Given the description of an element on the screen output the (x, y) to click on. 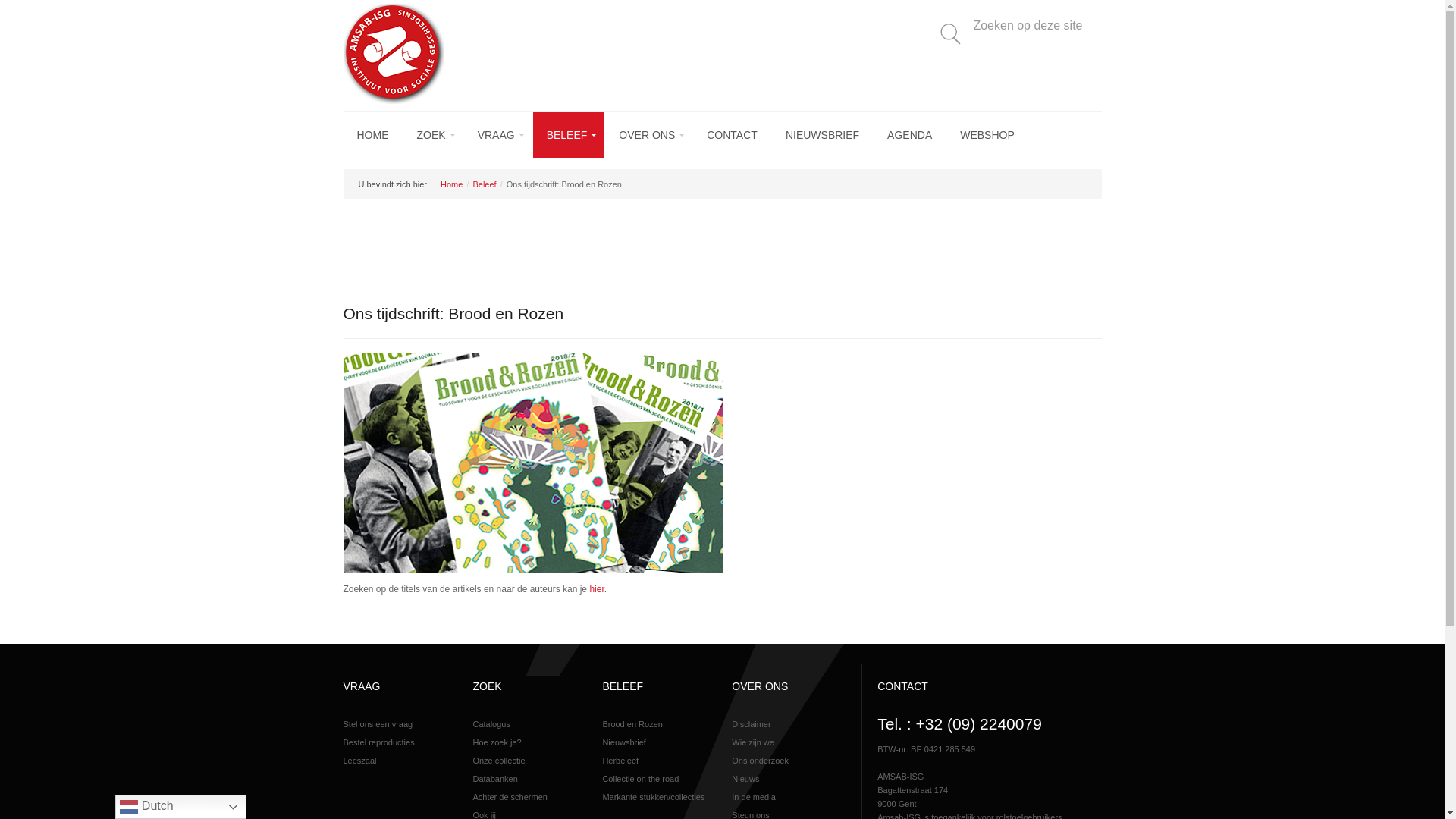
Collectie on the road Element type: text (657, 778)
AGENDA Element type: text (909, 134)
Home Element type: text (451, 183)
Ons onderzoek Element type: text (786, 760)
WEBSHOP Element type: text (987, 134)
Klik om te zoeken Element type: hover (950, 33)
Markante stukken/collecties Element type: text (657, 796)
Achter de schermen Element type: text (527, 796)
Herbeleef Element type: text (657, 760)
Nieuwsbrief Element type: text (657, 742)
VRAAG Element type: text (498, 134)
Brood en Rozen Element type: text (657, 724)
OVER ONS Element type: text (648, 134)
Hoe zoek je? Element type: text (527, 742)
Nieuws Element type: text (786, 778)
HOME Element type: text (371, 134)
NIEUWSBRIEF Element type: text (821, 134)
Stel ons een vraag Element type: text (397, 724)
CONTACT Element type: text (732, 134)
ZOEK Element type: text (433, 134)
Onze collectie Element type: text (527, 760)
Leeszaal Element type: text (397, 760)
Bestel reproducties Element type: text (397, 742)
Disclaimer Element type: text (786, 724)
BELEEF Element type: text (569, 134)
Wie zijn we Element type: text (786, 742)
Catalogus Element type: text (527, 724)
In de media Element type: text (786, 796)
hier Element type: text (596, 588)
Beleef Element type: text (483, 183)
Databanken Element type: text (527, 778)
